Given the description of an element on the screen output the (x, y) to click on. 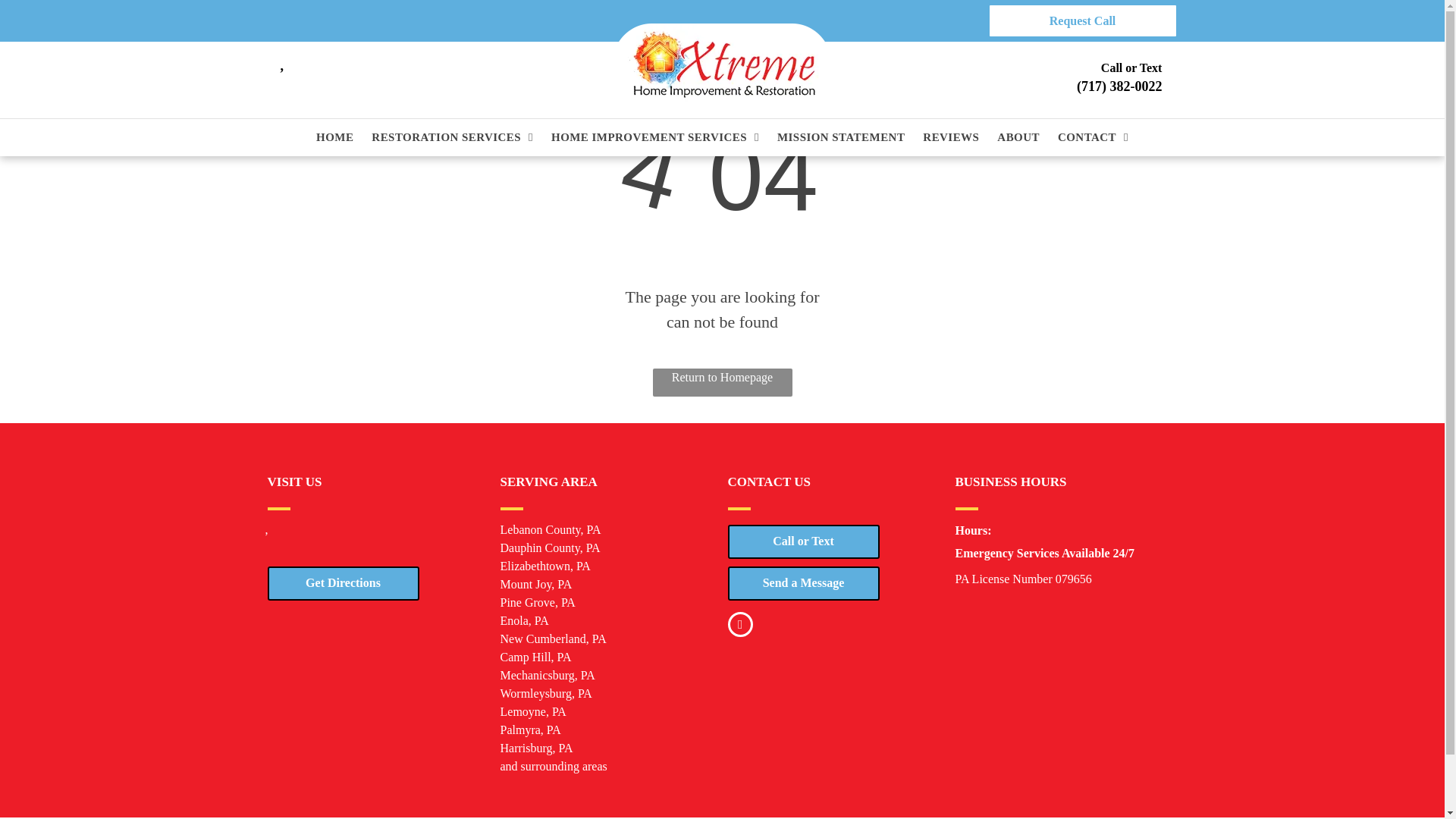
HOME IMPROVEMENT SERVICES (655, 137)
Send a Message (803, 582)
ABOUT (1018, 137)
Request Call (1081, 20)
MISSION STATEMENT (840, 137)
REVIEWS (950, 137)
CONTACT (1093, 137)
Return to Homepage (722, 382)
Get Directions (342, 582)
RESTORATION SERVICES (451, 137)
